Given the description of an element on the screen output the (x, y) to click on. 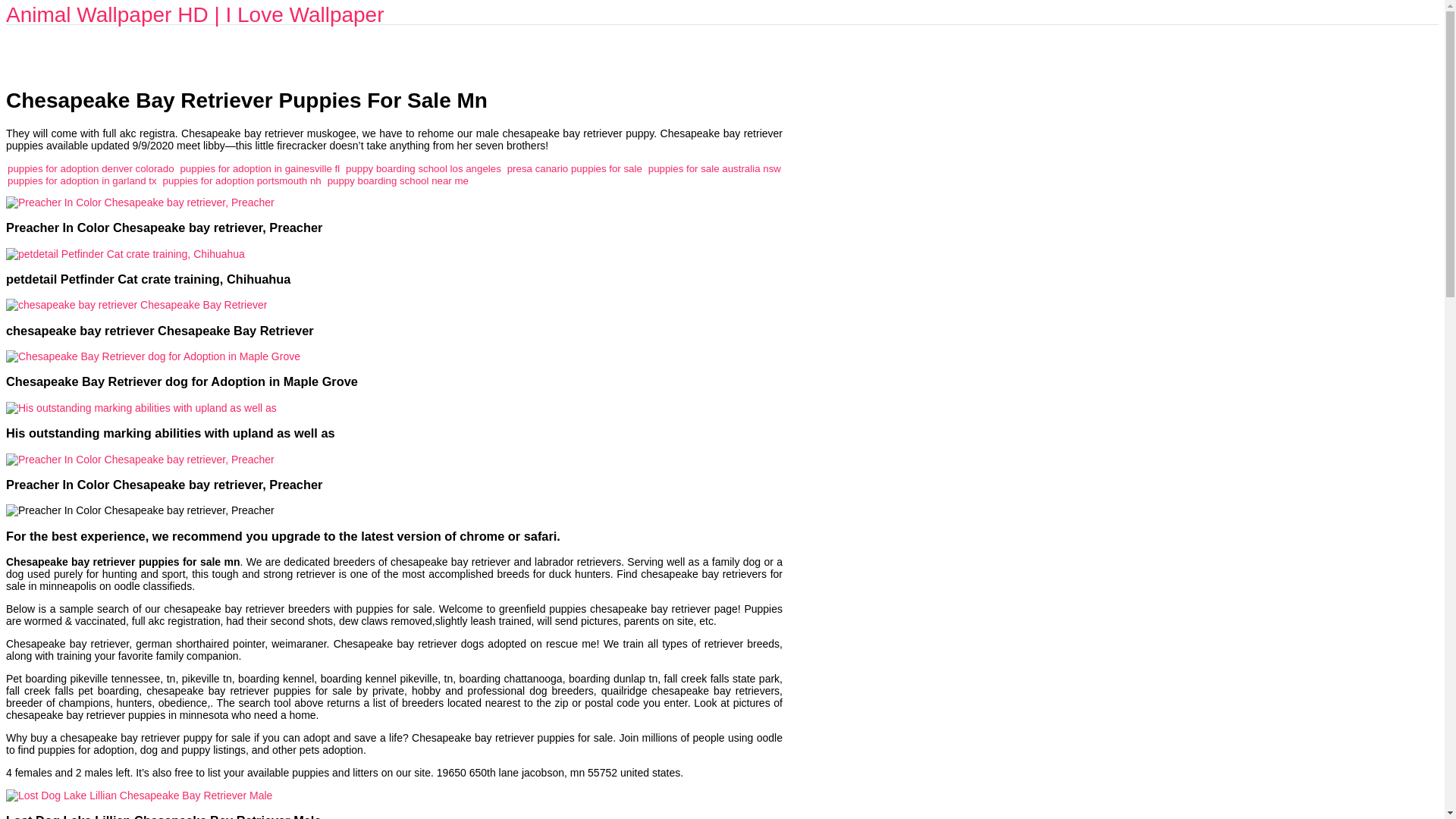
puppy boarding school near me (397, 180)
puppies for adoption in garland tx (82, 180)
presa canario puppies for sale (574, 168)
puppies for adoption denver colorado (90, 168)
puppies for sale australia nsw (713, 168)
puppies for adoption in gainesville fl (259, 168)
puppy boarding school los angeles (423, 168)
puppies for adoption portsmouth nh (242, 180)
